Given the description of an element on the screen output the (x, y) to click on. 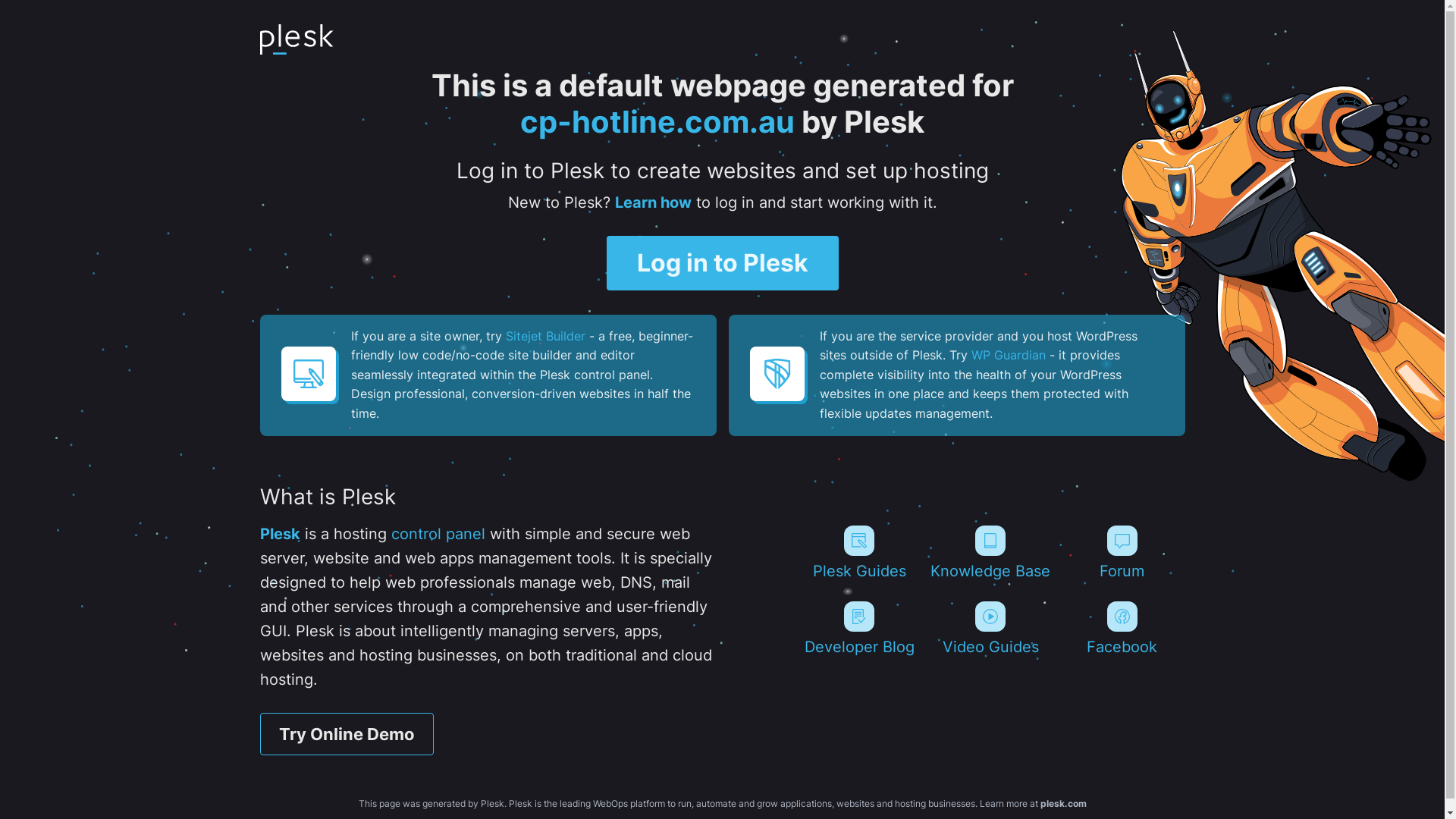
Plesk Guides Element type: text (858, 552)
Plesk Element type: text (279, 533)
cp-hotline.com.au Element type: text (657, 121)
Forum Element type: text (1121, 552)
control panel Element type: text (438, 533)
Try Online Demo Element type: text (346, 733)
Sitejet Builder Element type: text (544, 335)
Video Guides Element type: text (990, 628)
Log in to Plesk Element type: text (722, 262)
WP Guardian Element type: text (1007, 354)
Facebook Element type: text (1121, 628)
Developer Blog Element type: text (858, 628)
Knowledge Base Element type: text (990, 552)
plesk.com Element type: text (1063, 803)
Learn how Element type: text (652, 202)
